Given the description of an element on the screen output the (x, y) to click on. 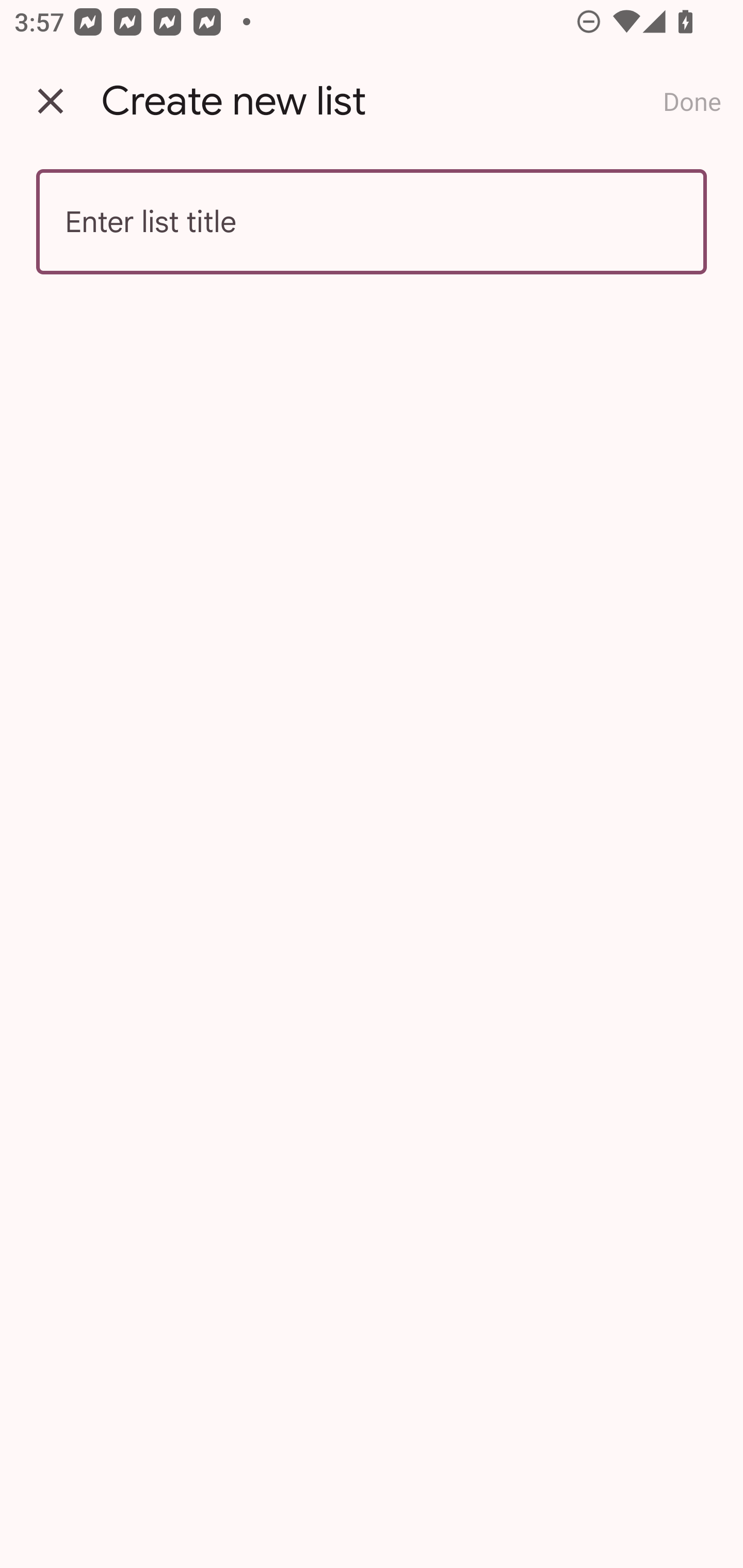
Back (50, 101)
Done (692, 101)
Enter list title (371, 221)
